Given the description of an element on the screen output the (x, y) to click on. 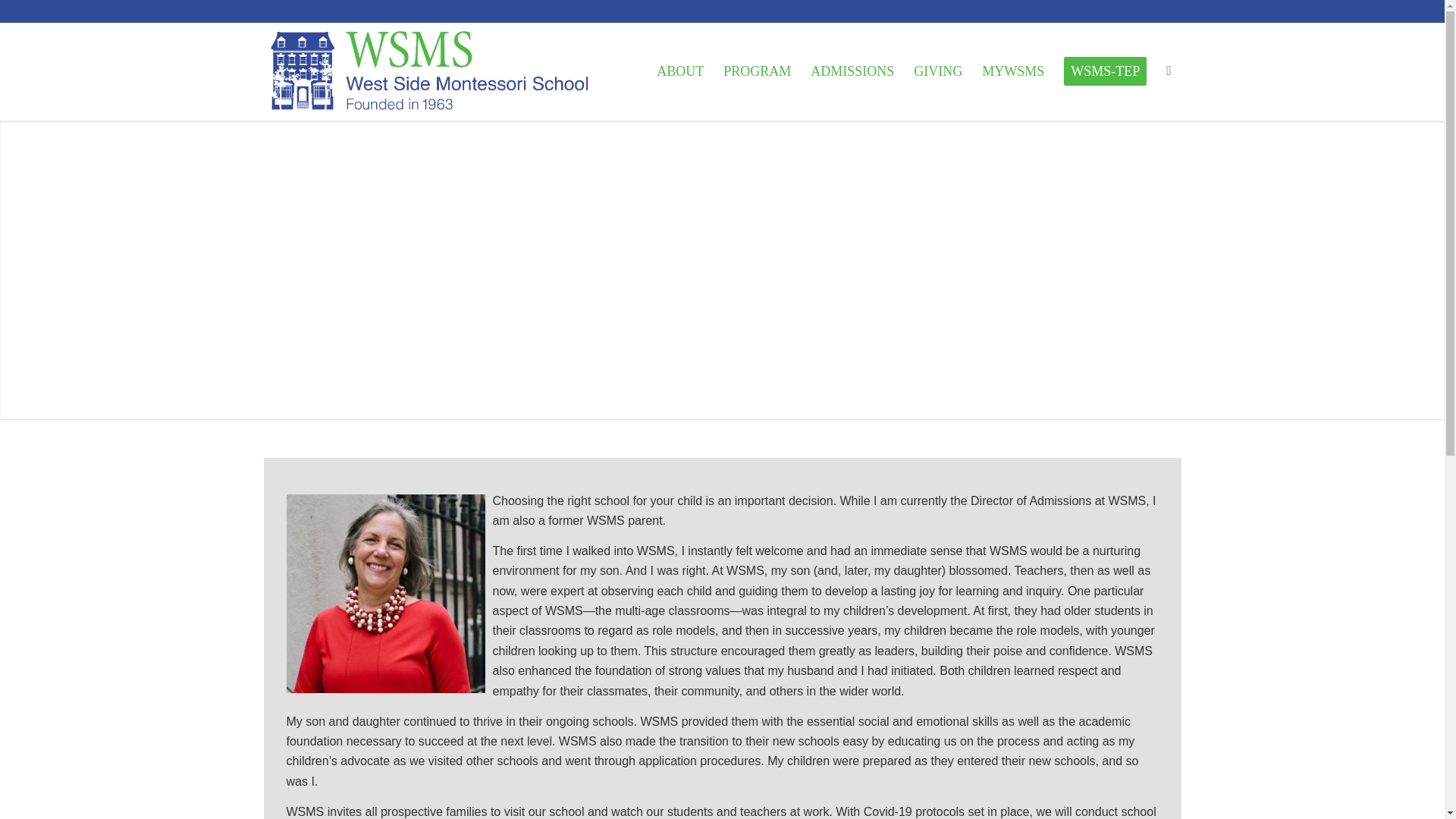
WSMS (429, 71)
WSMS-TEP (1105, 71)
ADMISSIONS (852, 71)
